Given the description of an element on the screen output the (x, y) to click on. 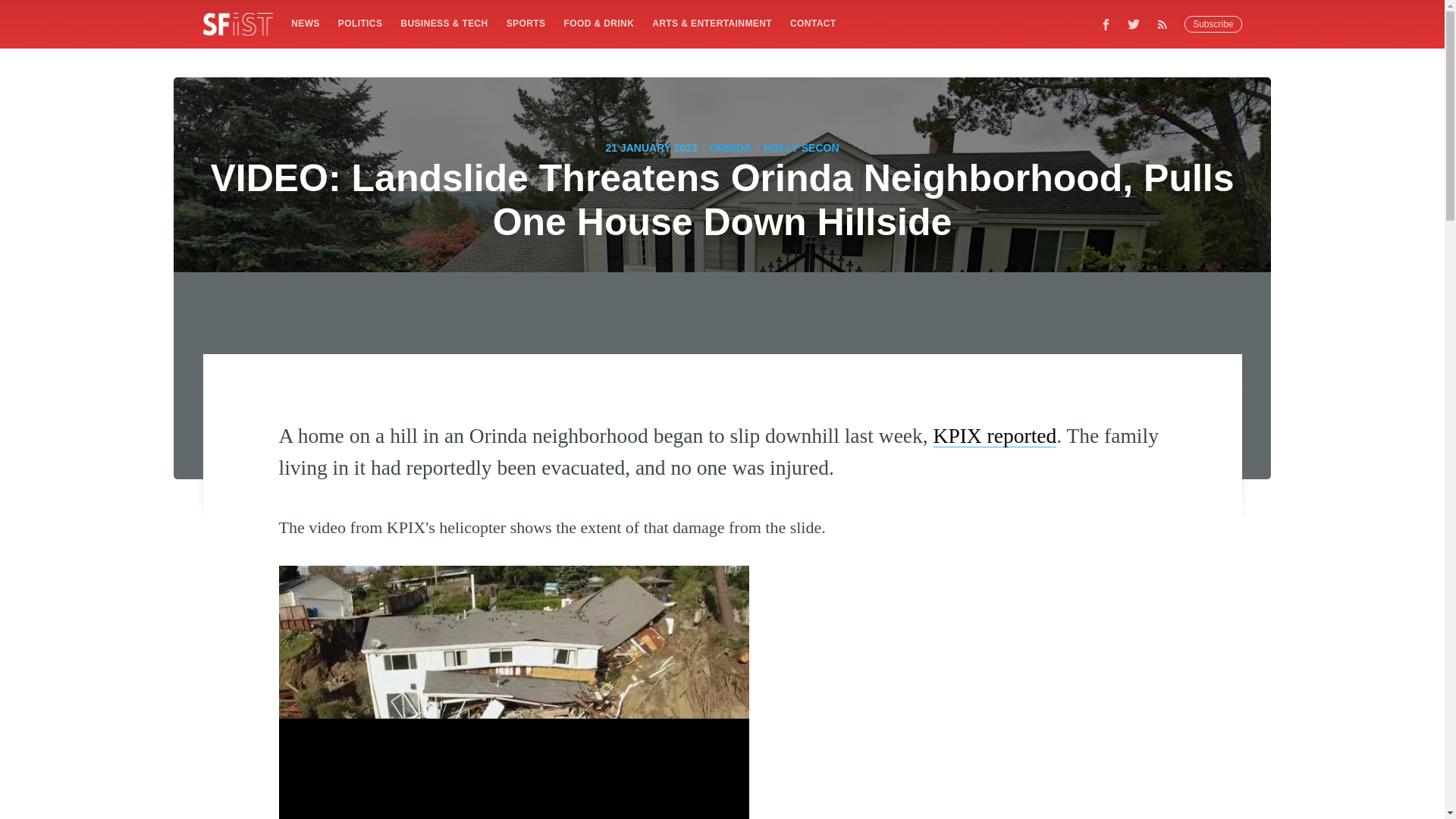
POLITICS (360, 23)
CONTACT (812, 23)
RSS (1166, 23)
Twitter (1133, 23)
Facebook (1106, 23)
NEWS (305, 23)
SPORTS (525, 23)
Subscribe (1213, 23)
HOLLY SECON (801, 147)
ORINDA (730, 147)
